Given the description of an element on the screen output the (x, y) to click on. 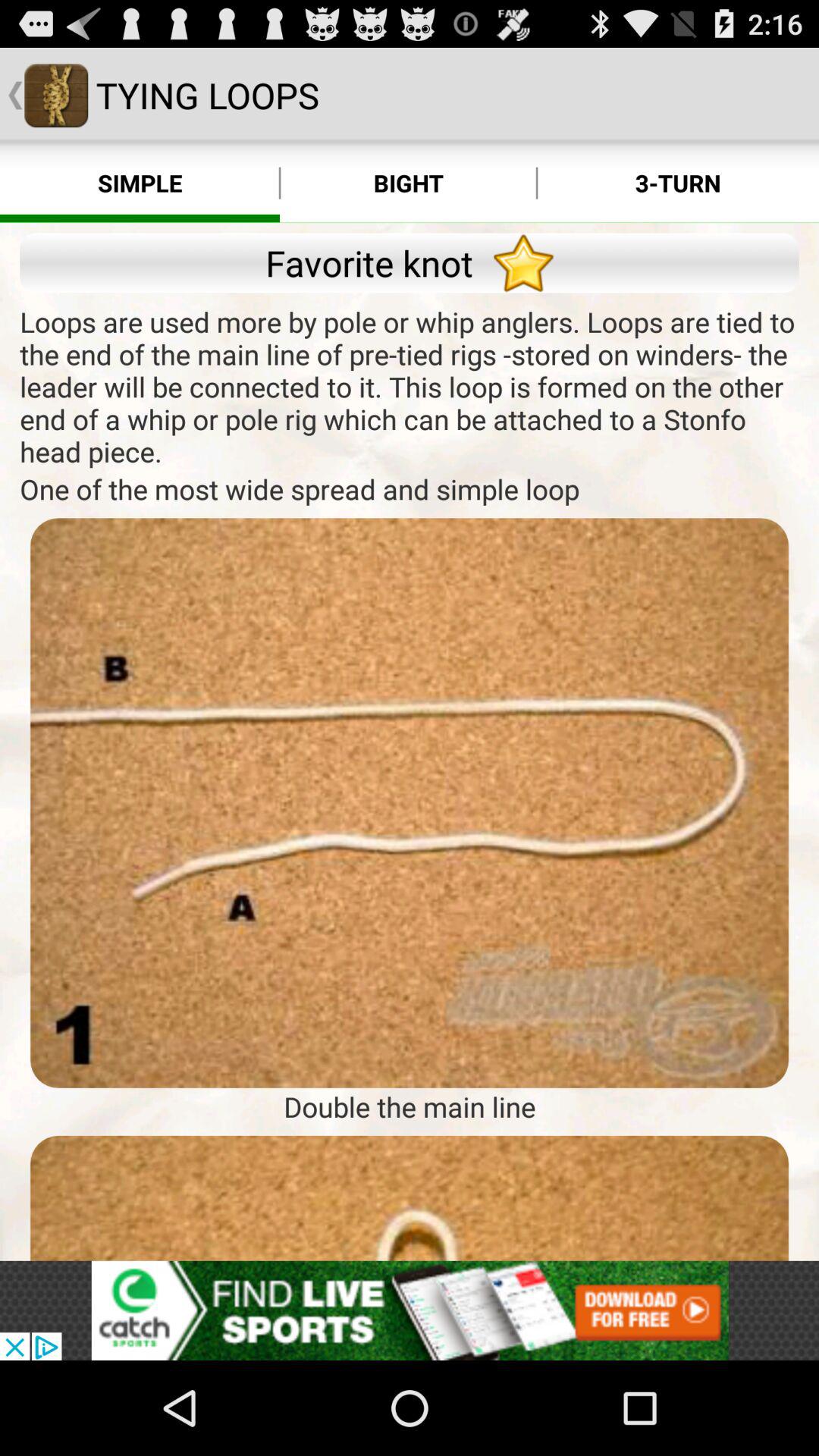
step 2 (409, 1197)
